Given the description of an element on the screen output the (x, y) to click on. 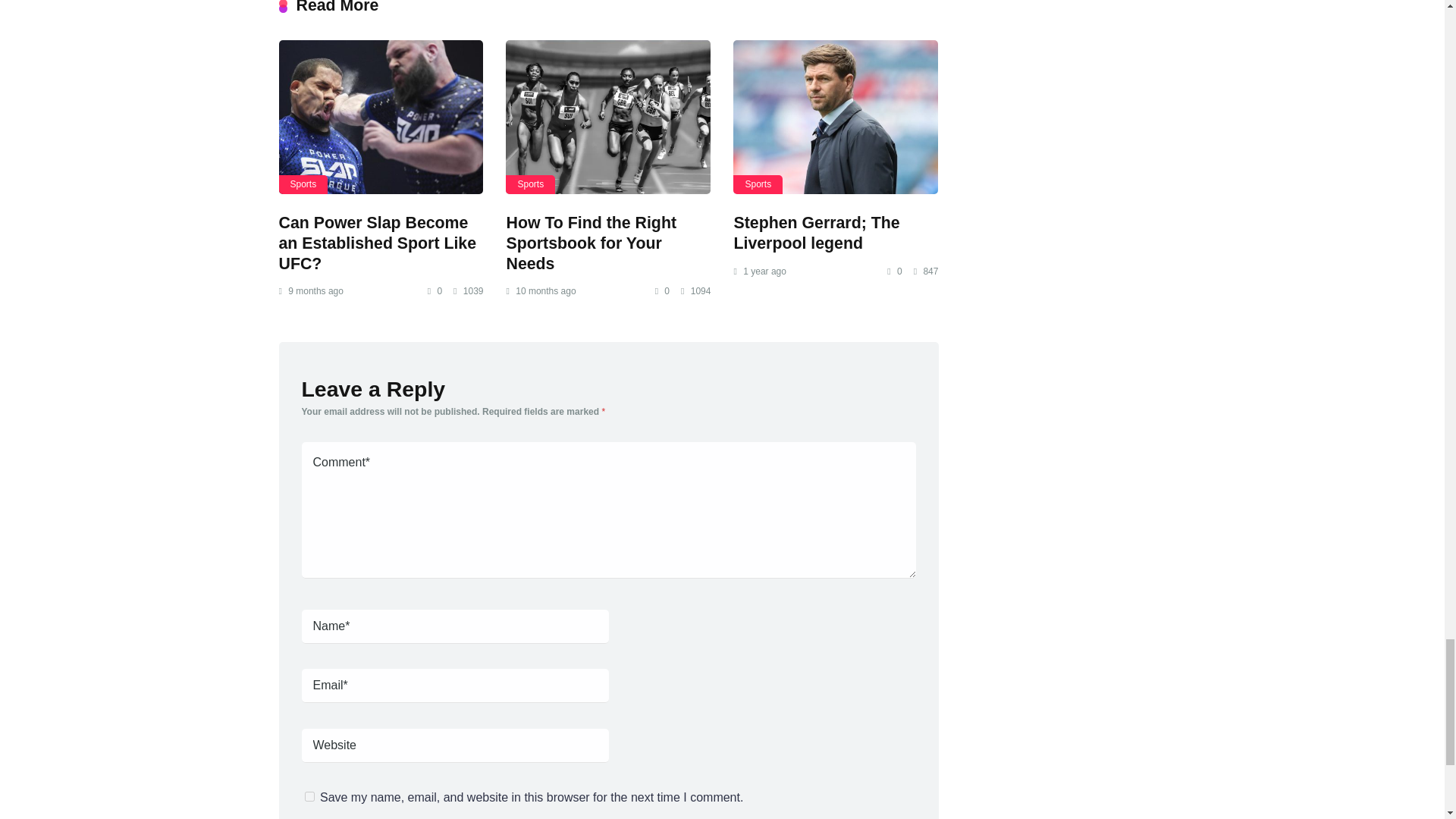
Stephen Gerrard; The Liverpool legend (816, 232)
Sports (529, 184)
Sports (758, 184)
yes (309, 796)
How To Find the Right Sportsbook for Your Needs (591, 242)
Can Power Slap Become an Established Sport Like UFC? (381, 117)
How To Find the Right Sportsbook for Your Needs (591, 242)
How To Find the Right Sportsbook for Your Needs (607, 117)
Stephen Gerrard; The Liverpool legend (816, 232)
Sports (304, 184)
Stephen Gerrard; The Liverpool legend (835, 117)
Can Power Slap Become an Established Sport Like UFC? (378, 242)
Can Power Slap Become an Established Sport Like UFC? (378, 242)
